Given the description of an element on the screen output the (x, y) to click on. 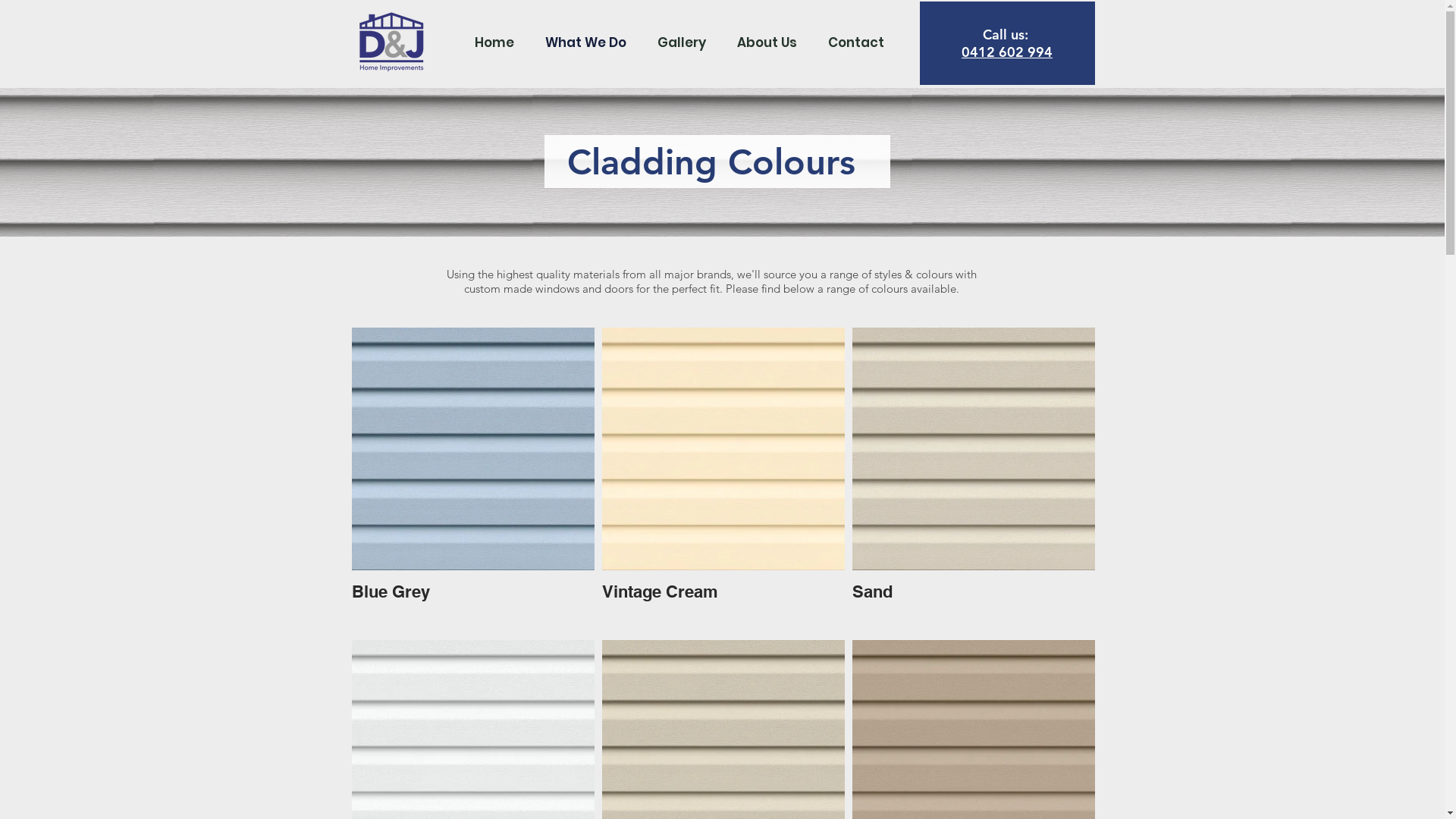
What We Do Element type: text (585, 42)
About Us Element type: text (766, 42)
Home Element type: text (494, 42)
Gallery Element type: text (681, 42)
Contact Element type: text (855, 42)
0412 602 994 Element type: text (1006, 51)
